Given the description of an element on the screen output the (x, y) to click on. 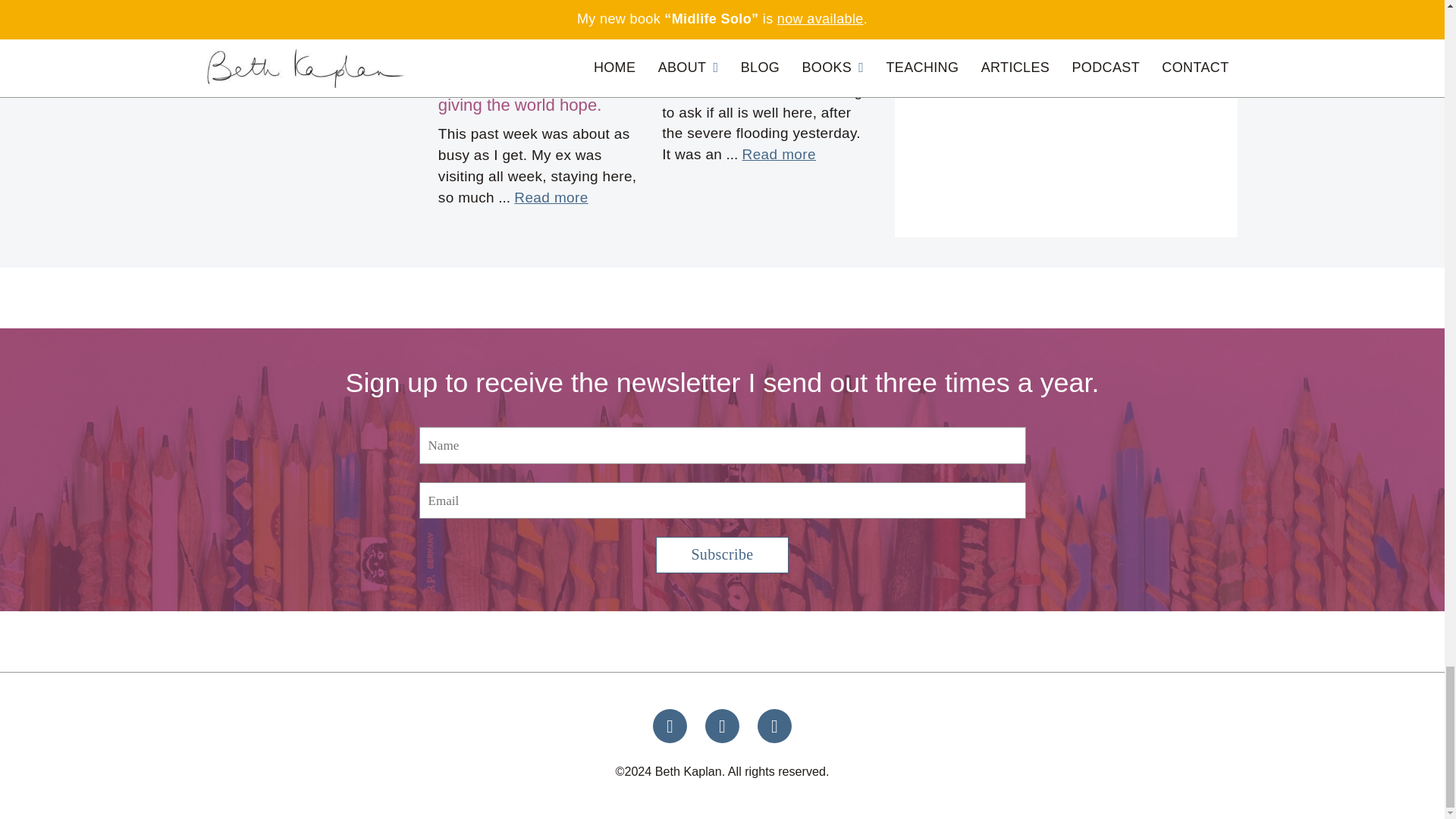
Read more (778, 154)
weathering the storm (740, 61)
Subscribe (722, 555)
Read more (309, 25)
Read more (550, 197)
